Given the description of an element on the screen output the (x, y) to click on. 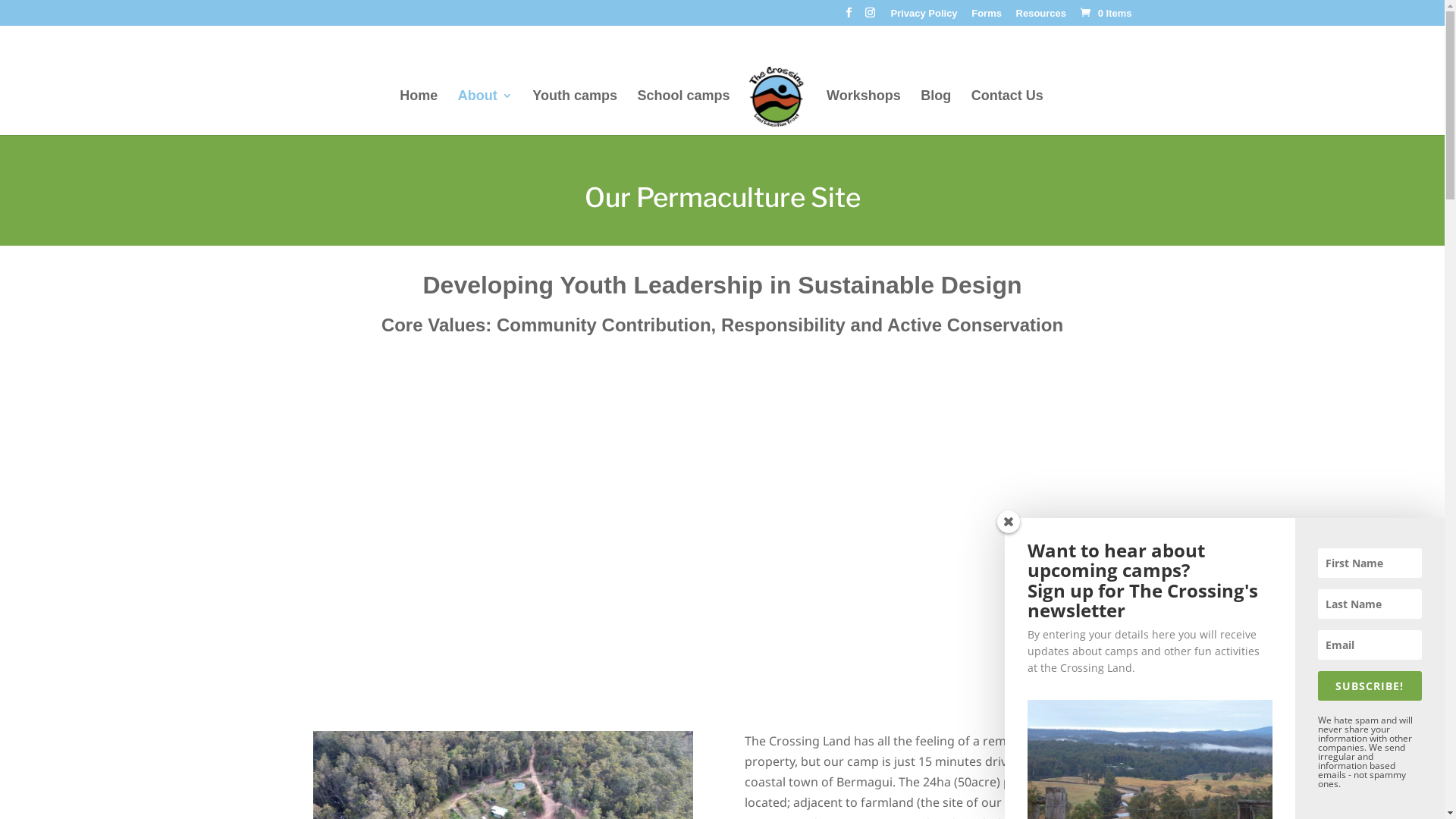
Blog Element type: text (935, 112)
Resources Element type: text (1041, 16)
Workshops Element type: text (863, 112)
Privacy Policy Element type: text (923, 16)
Forms Element type: text (986, 16)
0 Items Element type: text (1104, 12)
Contact Us Element type: text (1007, 112)
Youth camps Element type: text (574, 112)
About Element type: text (485, 112)
School camps Element type: text (683, 112)
SUBSCRIBE! Element type: text (1369, 685)
Home Element type: text (418, 112)
